Given the description of an element on the screen output the (x, y) to click on. 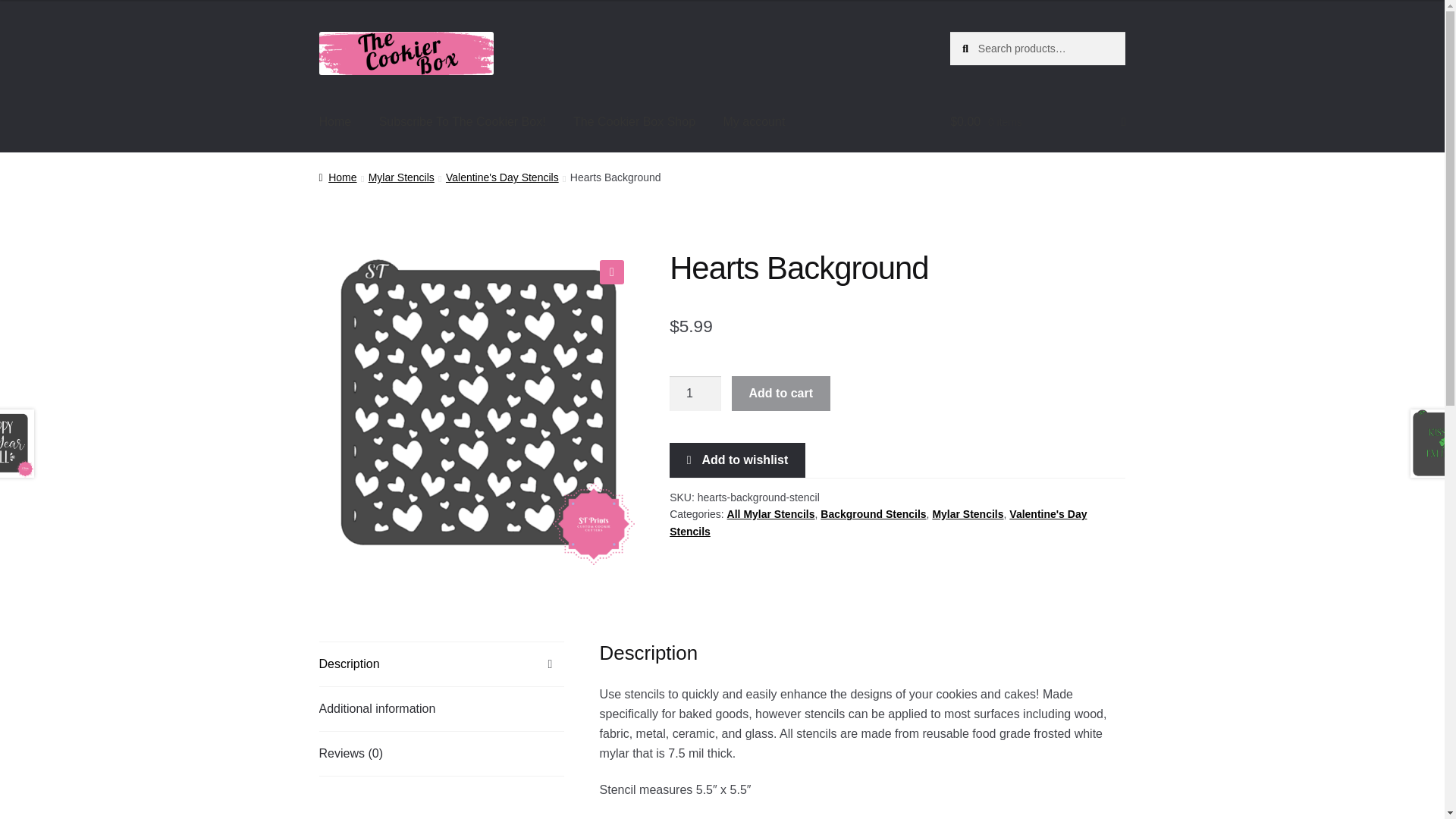
Add to cart (780, 393)
Valentine's Day Stencils (877, 522)
Valentine's Day Stencils (502, 177)
Subscribe To The Cookier Box! (461, 121)
Mylar Stencils (967, 513)
Home (337, 177)
Home (335, 121)
hearts-background.png (476, 407)
Additional information (441, 709)
The Cookier Box Shop (633, 121)
